Given the description of an element on the screen output the (x, y) to click on. 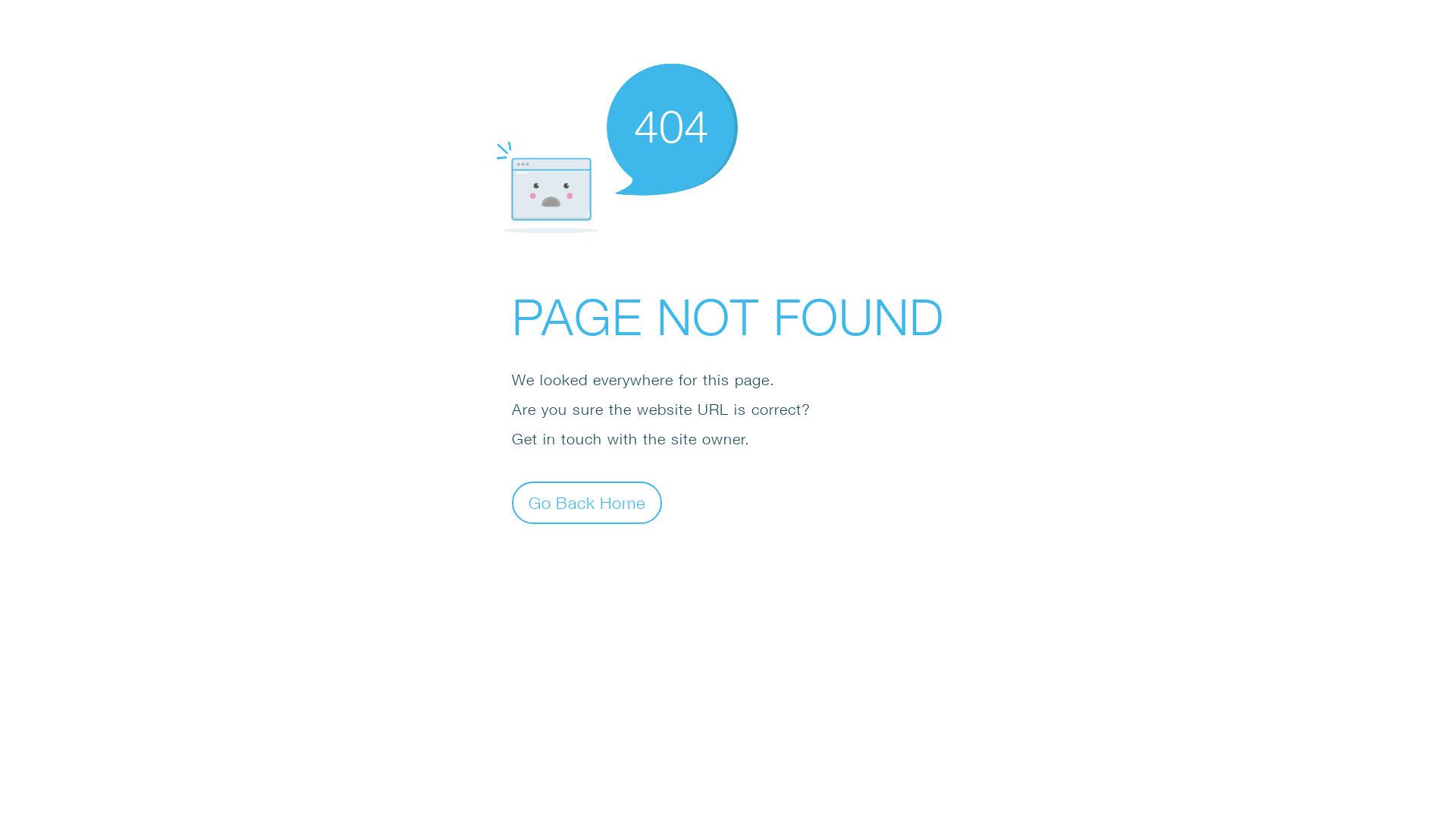
Go Back Home Element type: text (586, 502)
